Given the description of an element on the screen output the (x, y) to click on. 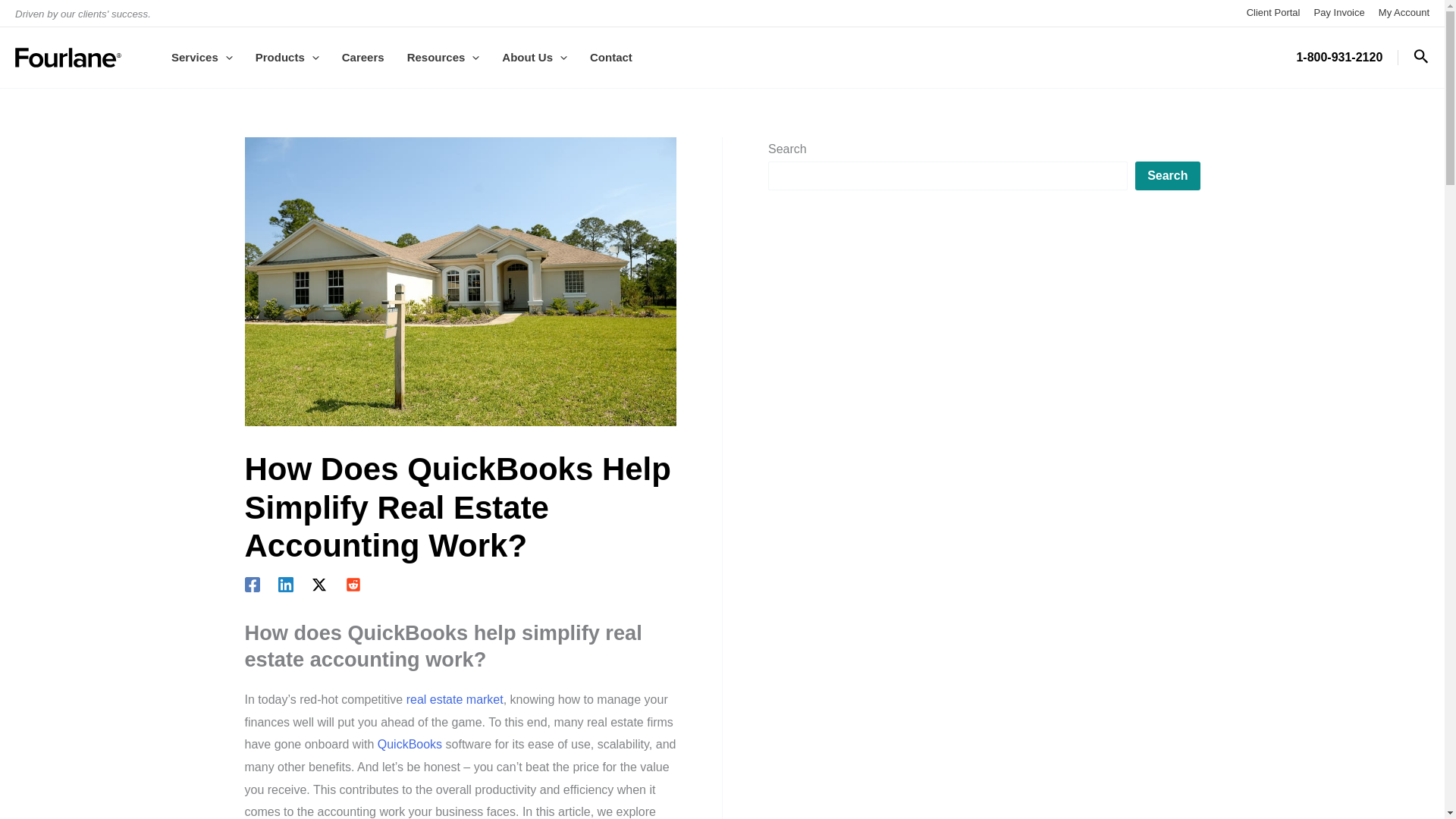
My Account (1403, 12)
Services (202, 57)
Products (287, 57)
Pay Invoice (1339, 12)
Client Portal (1273, 12)
